Given the description of an element on the screen output the (x, y) to click on. 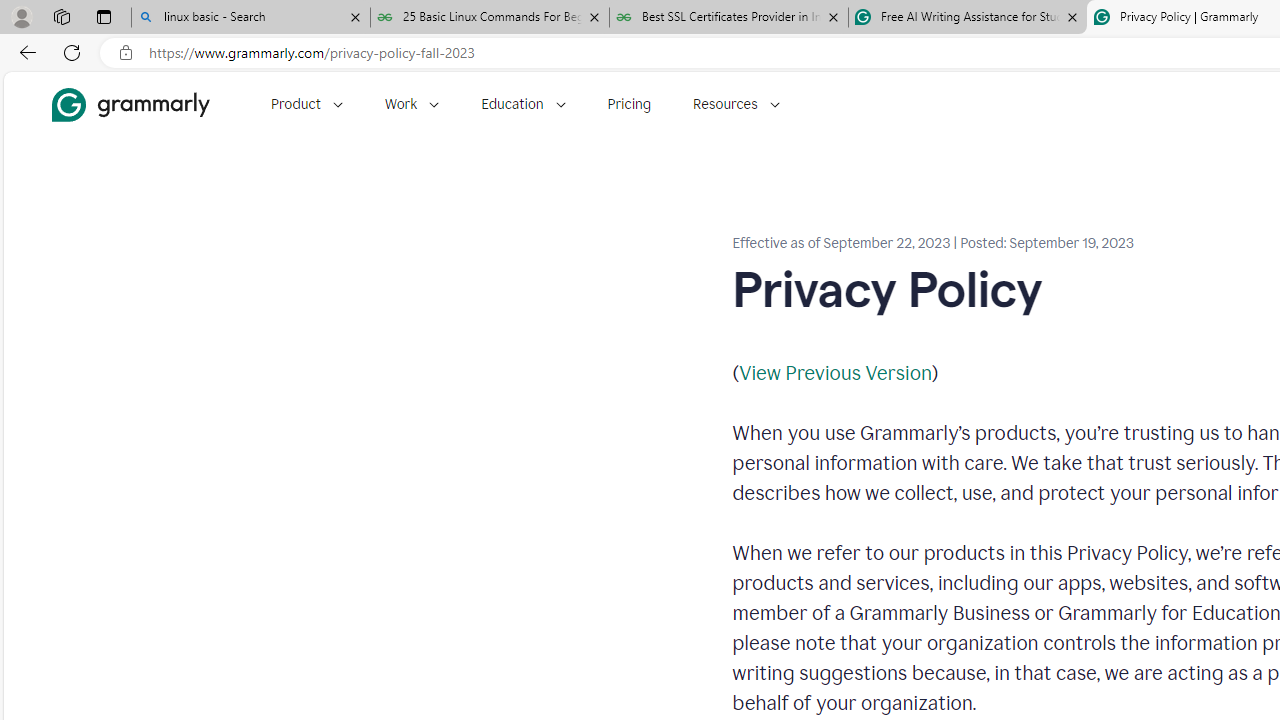
Work (412, 103)
Best SSL Certificates Provider in India - GeeksforGeeks (729, 17)
Grammarly Home (130, 104)
Resources (736, 103)
View Previous Version (834, 372)
Education (523, 103)
Product (306, 104)
Resources (736, 104)
Education (523, 104)
Pricing (629, 104)
